Given the description of an element on the screen output the (x, y) to click on. 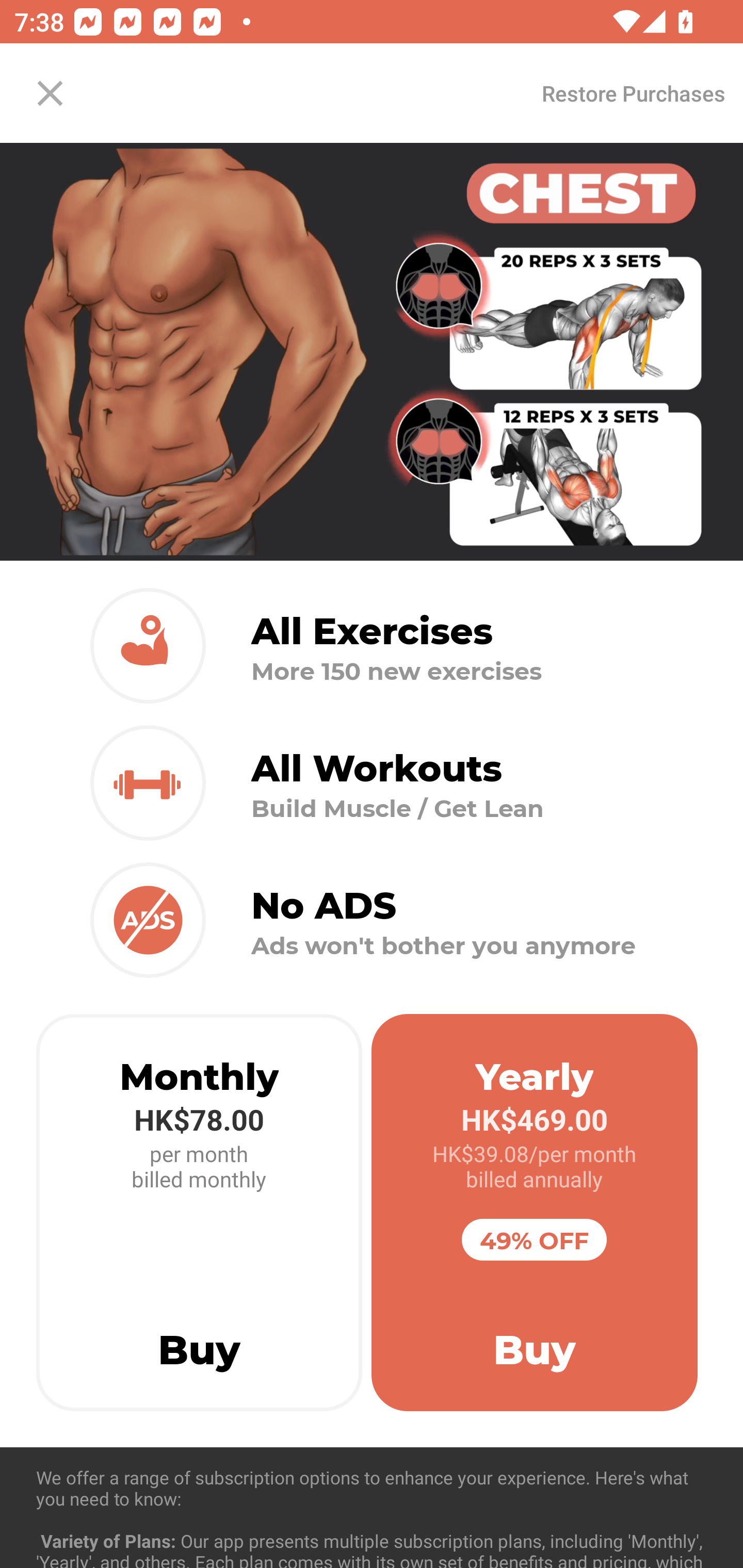
Restore Purchases (632, 92)
Monthly HK$78.00 per month
billed monthly Buy (199, 1212)
